Given the description of an element on the screen output the (x, y) to click on. 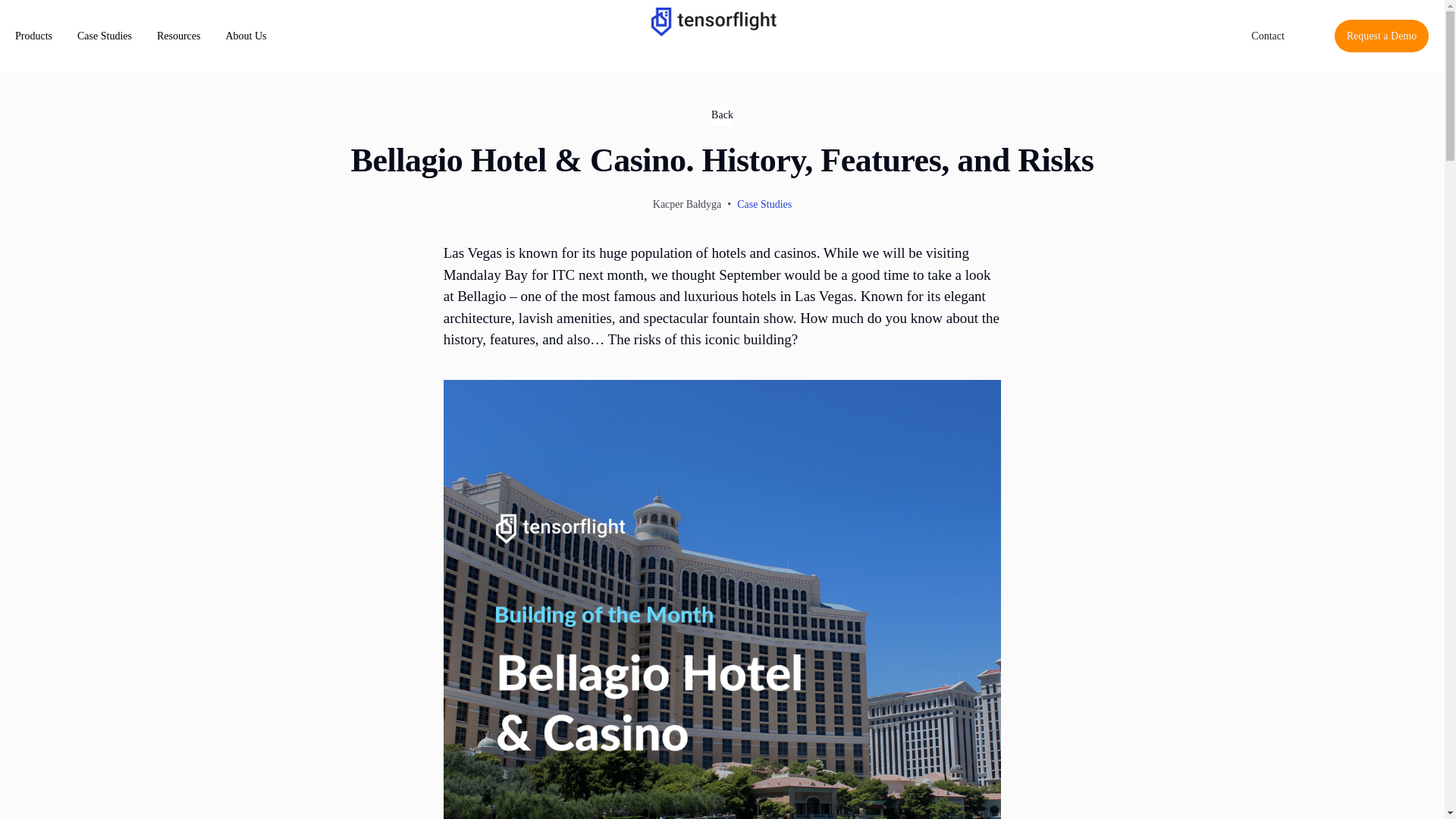
Request a Demo (1382, 35)
Contact (1267, 35)
Back (722, 115)
Products (33, 35)
Resources (178, 35)
Case Studies (104, 35)
Case Studies (764, 204)
About Us (245, 35)
